Given the description of an element on the screen output the (x, y) to click on. 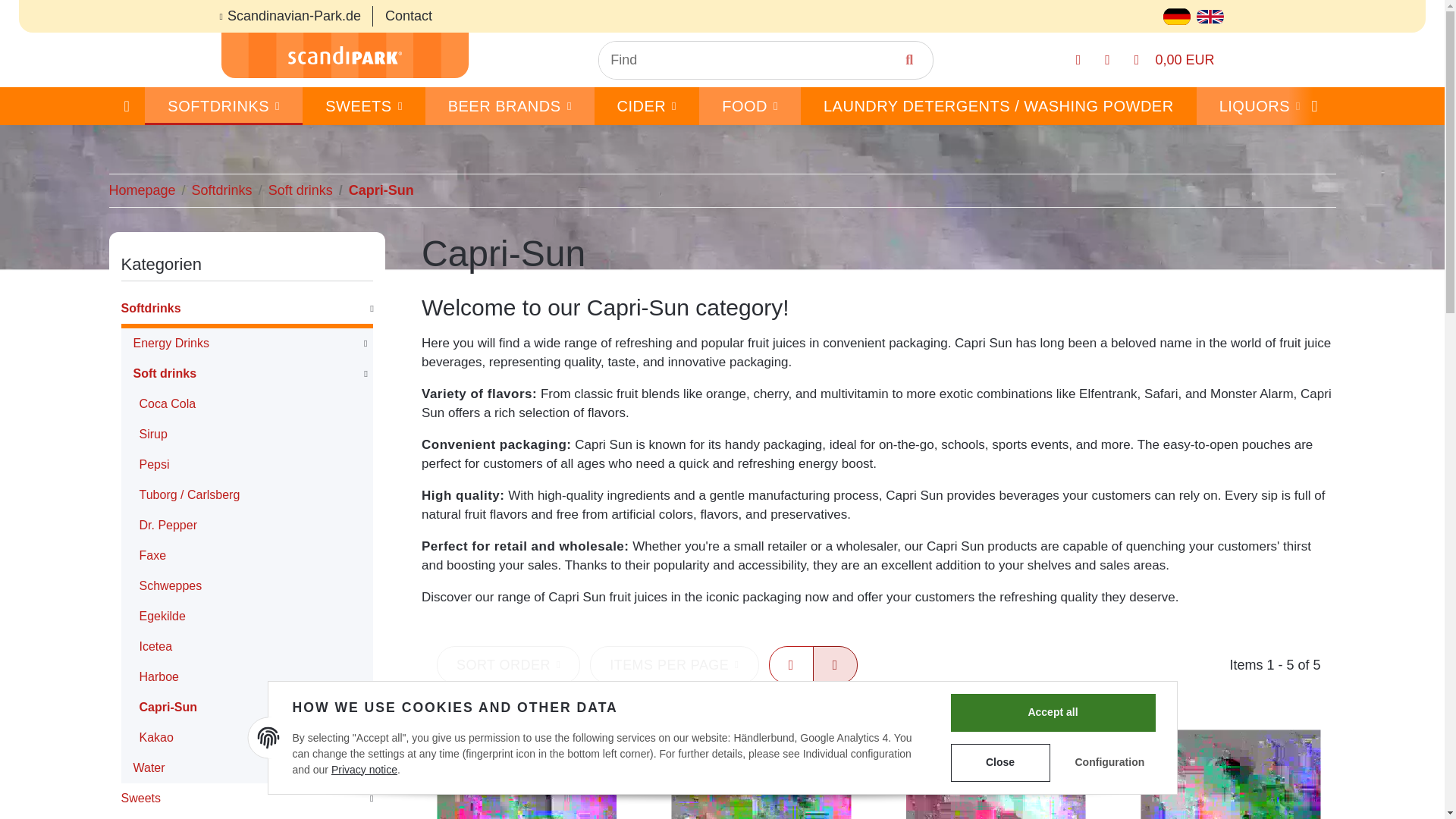
Liquors (1259, 105)
Food (749, 105)
Sweets (363, 105)
Contact-Form (408, 16)
CIDER (647, 105)
0,00 EUR (1174, 60)
LIQUORS (1259, 105)
Scandinavian-Park.de (296, 16)
Cider (647, 105)
Switch to the German shop (1177, 15)
